Given the description of an element on the screen output the (x, y) to click on. 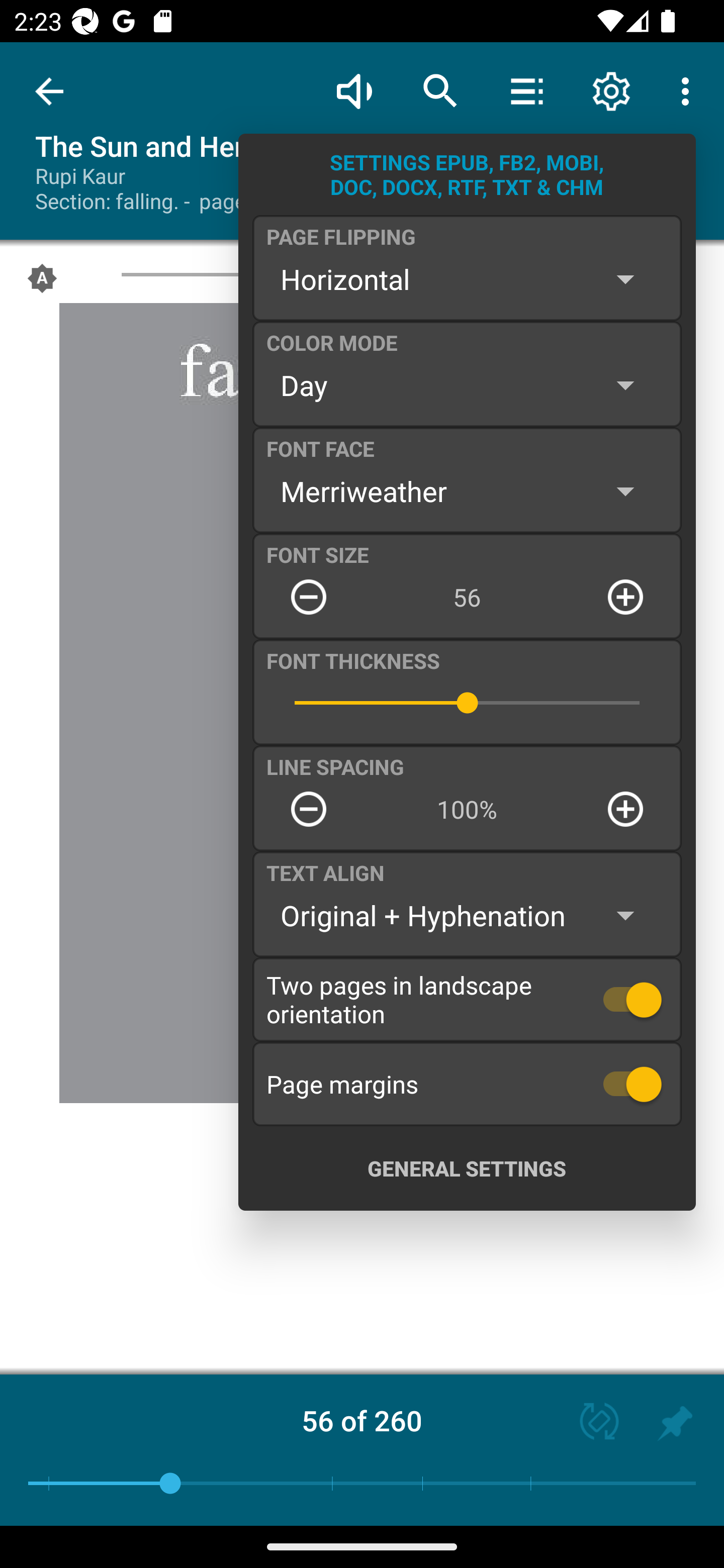
Horizontal (466, 278)
Day (466, 384)
Merriweather (466, 490)
Original + Hyphenation (466, 915)
Two pages in landscape orientation (467, 999)
Page margins (467, 1083)
GENERAL SETTINGS (466, 1167)
